Given the description of an element on the screen output the (x, y) to click on. 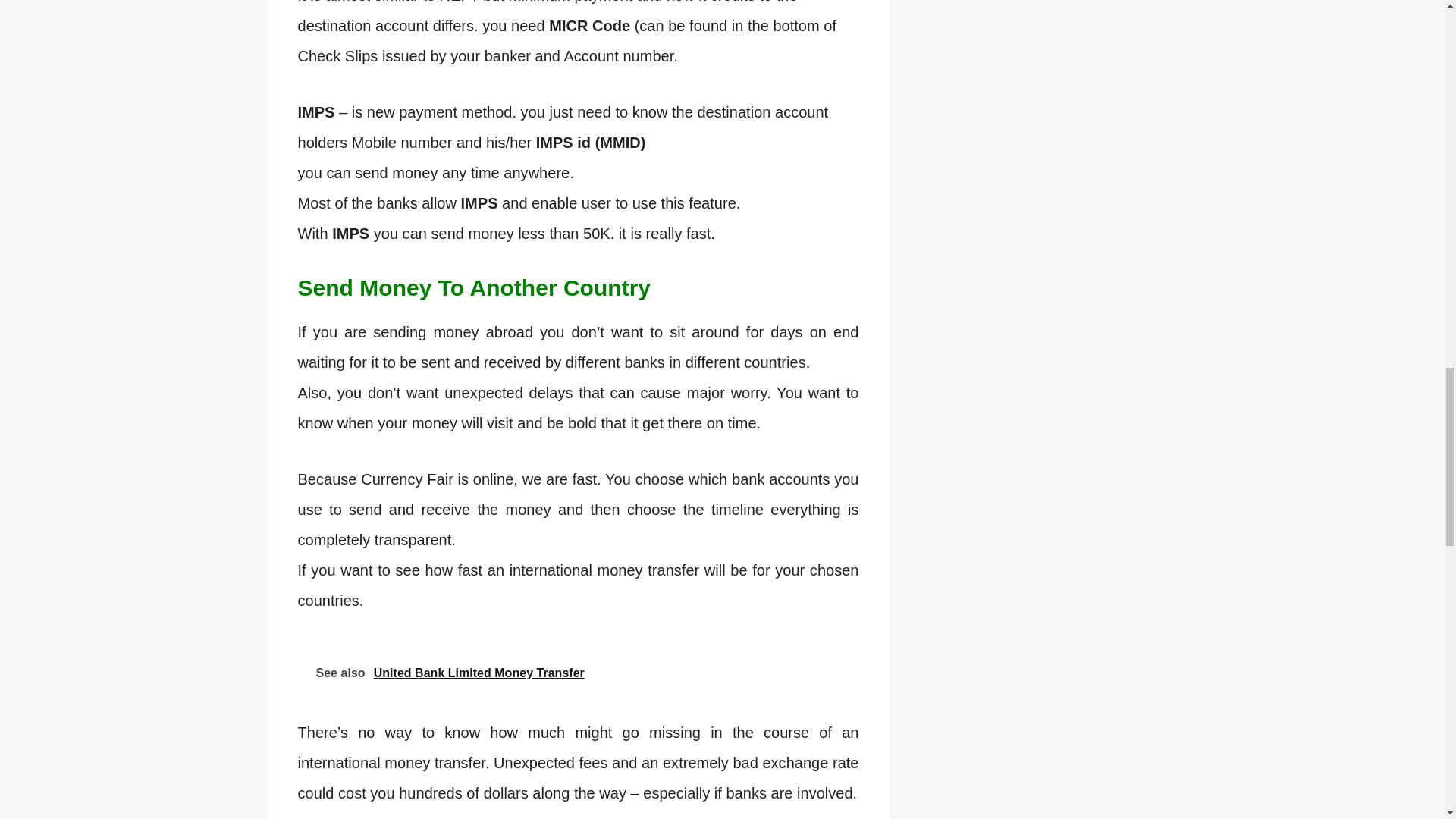
See also  United Bank Limited Money Transfer (578, 671)
